Given the description of an element on the screen output the (x, y) to click on. 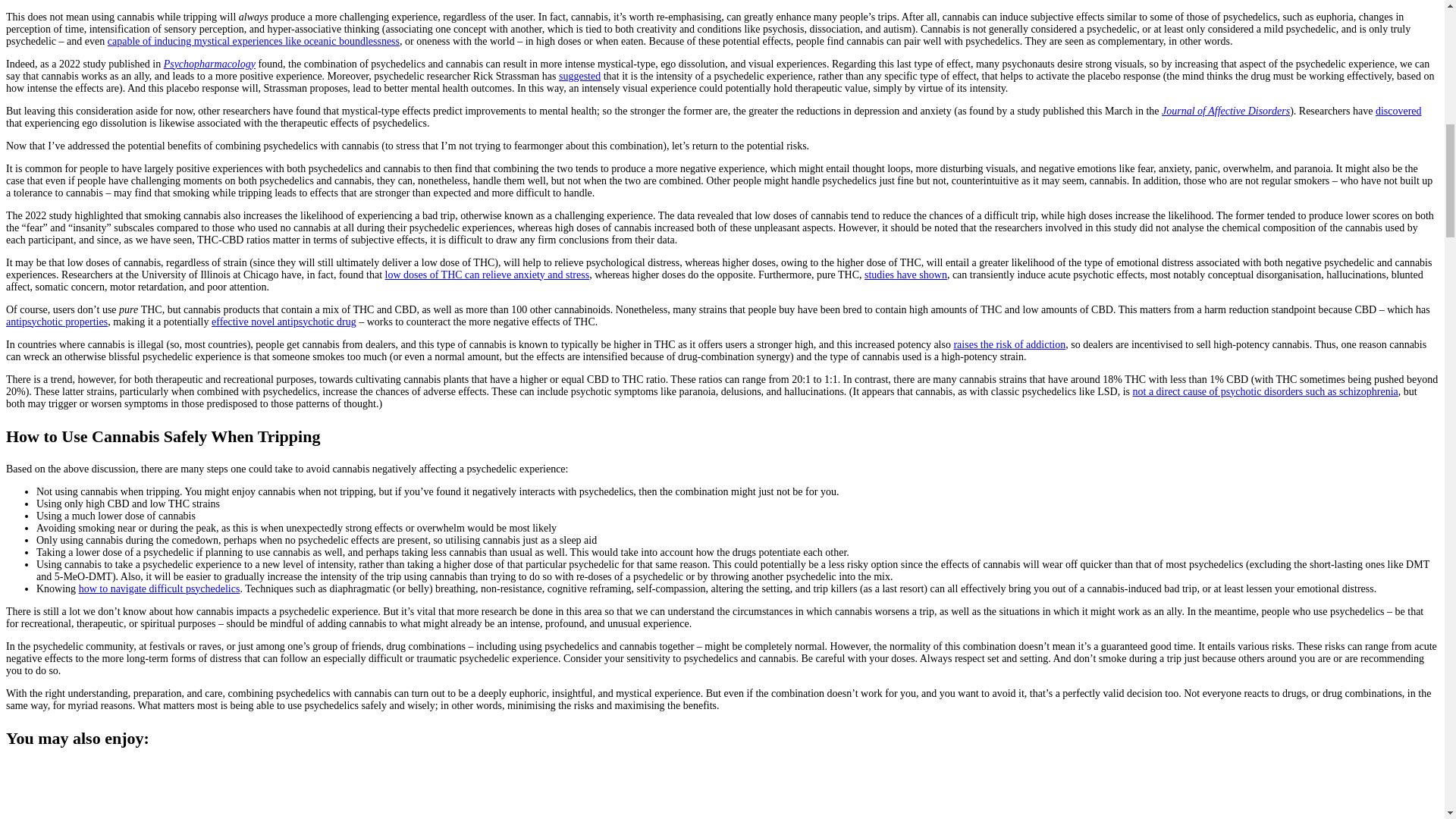
suggested (579, 75)
discovered (1398, 110)
Journal of Affective Disorders (1225, 110)
raises the risk of addiction (1009, 343)
how to navigate difficult psychedelics (159, 587)
low doses of THC can relieve anxiety and stress (487, 274)
antipsychotic properties (56, 320)
studies have shown (905, 274)
